Given the description of an element on the screen output the (x, y) to click on. 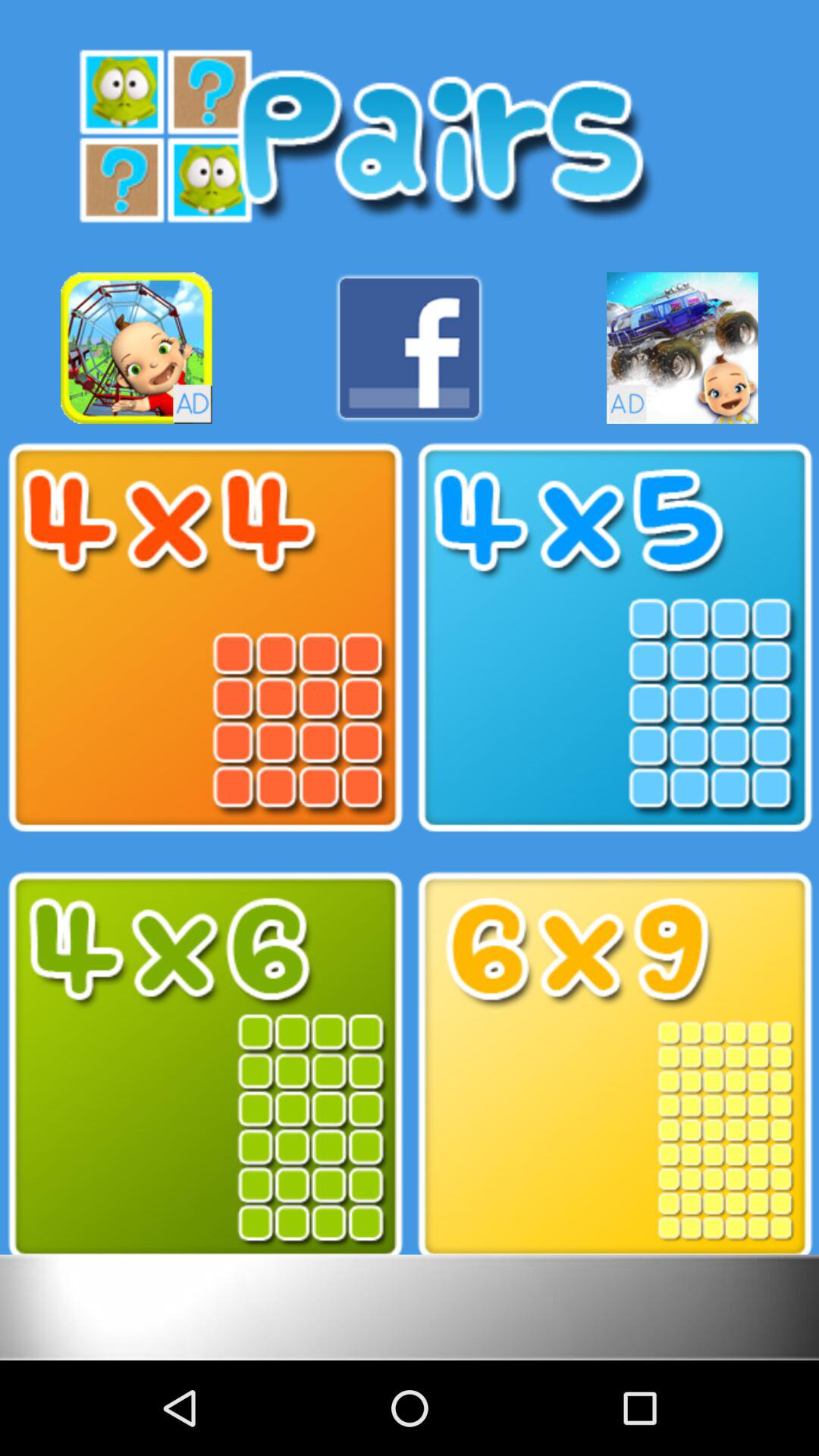
toggle play option (204, 1066)
